Given the description of an element on the screen output the (x, y) to click on. 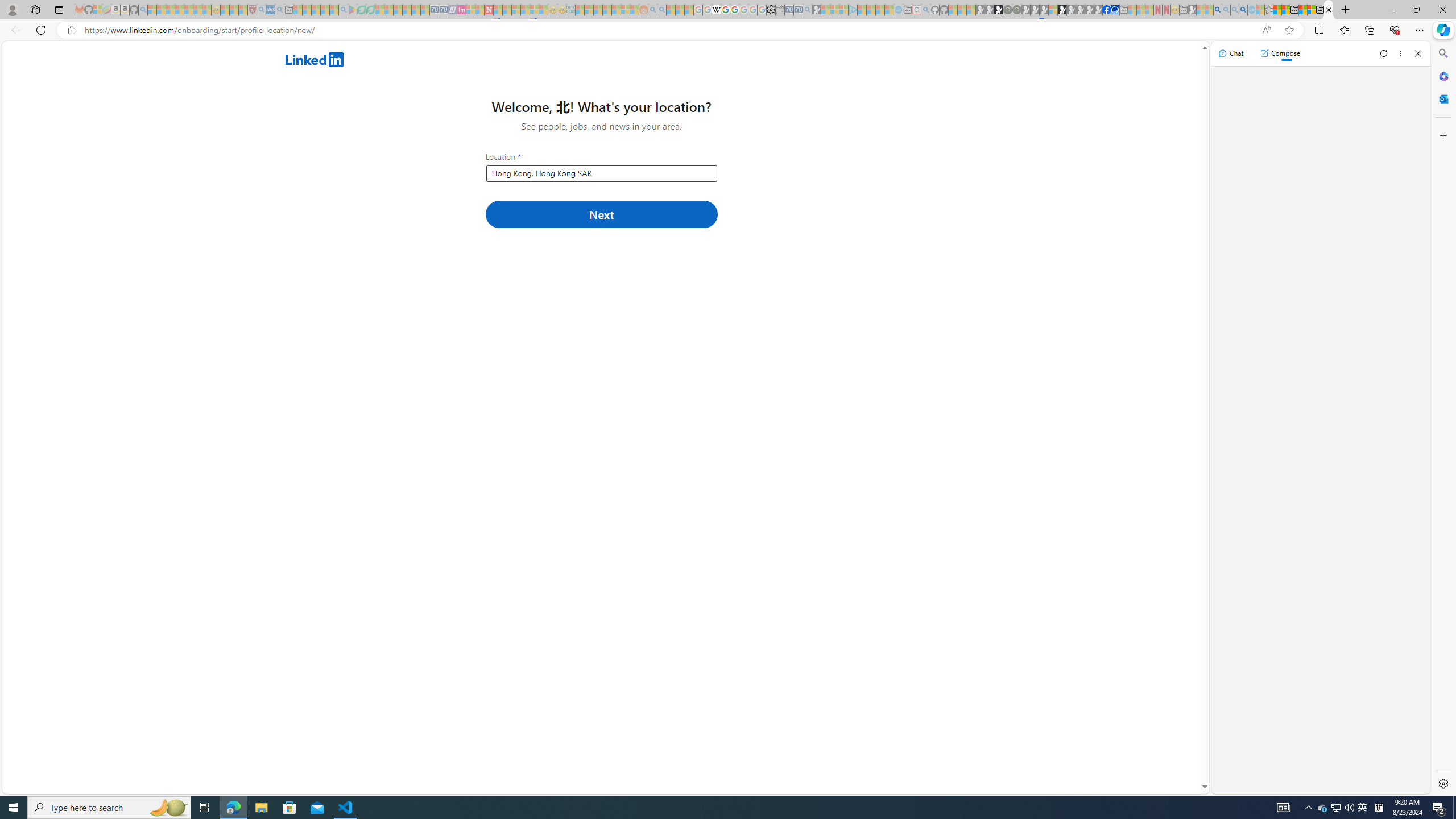
Compose (1279, 52)
14 Common Myths Debunked By Scientific Facts - Sleeping (506, 9)
Favorites - Sleeping (1268, 9)
AQI & Health | AirNow.gov (1115, 9)
Microsoft-Report a Concern to Bing - Sleeping (97, 9)
